Given the description of an element on the screen output the (x, y) to click on. 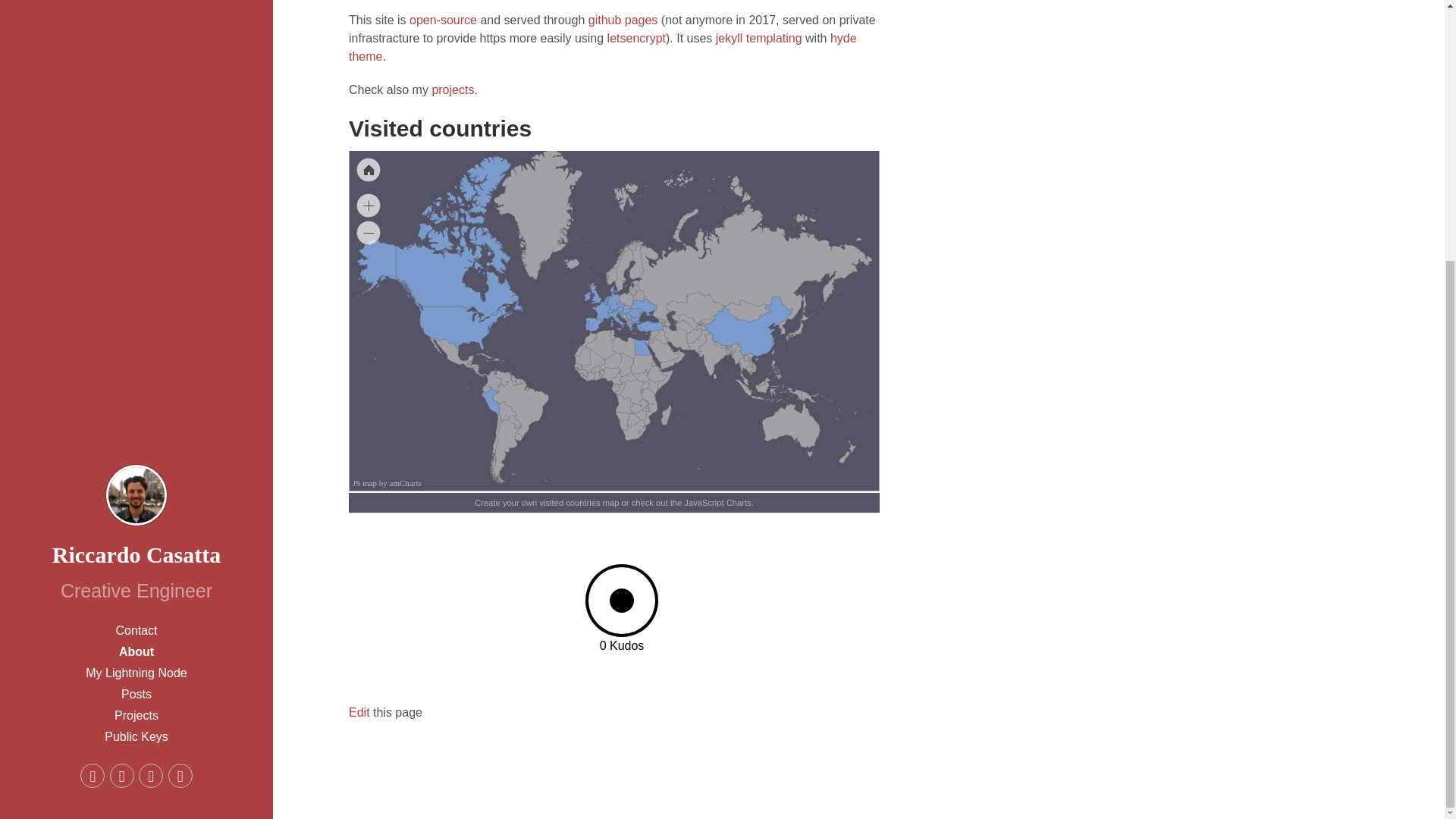
jekyll templating (759, 38)
Interactive JavaScript maps (387, 482)
letsencrypt (636, 38)
Contact (136, 256)
About (136, 278)
github pages (623, 19)
hyde theme (603, 47)
Riccardo Casatta on StackOverflow (150, 401)
Public Keys (136, 362)
Projects (136, 341)
Riccardo Casatta (136, 180)
Edit (359, 712)
projects (452, 89)
open-source (443, 19)
My Lightning Node (136, 299)
